Given the description of an element on the screen output the (x, y) to click on. 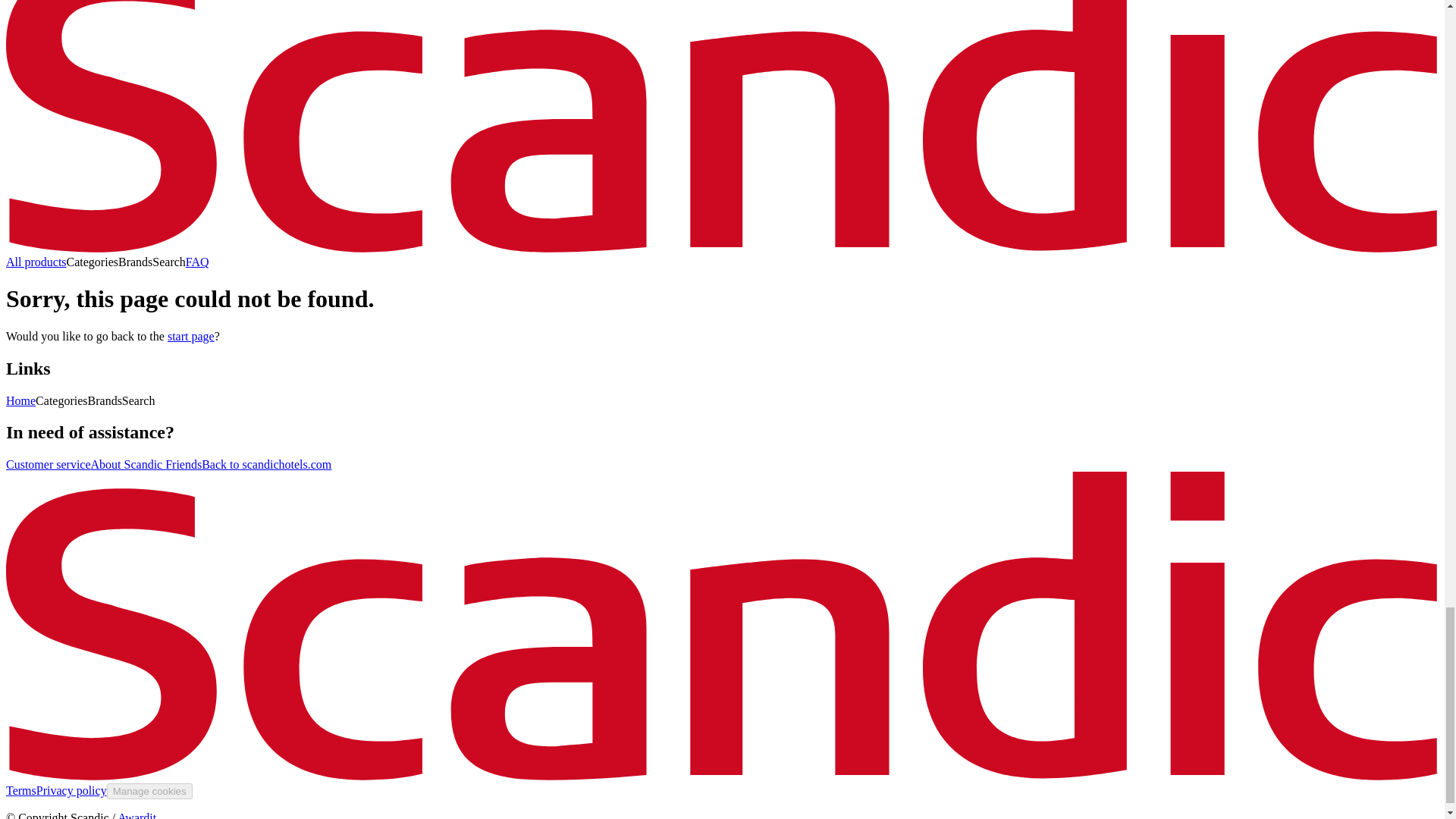
Home (19, 400)
Customer service (47, 463)
All products (35, 261)
Back to scandichotels.com (266, 463)
Terms (20, 789)
start page (190, 336)
FAQ (197, 261)
Privacy policy (71, 789)
About Scandic Friends (146, 463)
Manage cookies (149, 790)
